Given the description of an element on the screen output the (x, y) to click on. 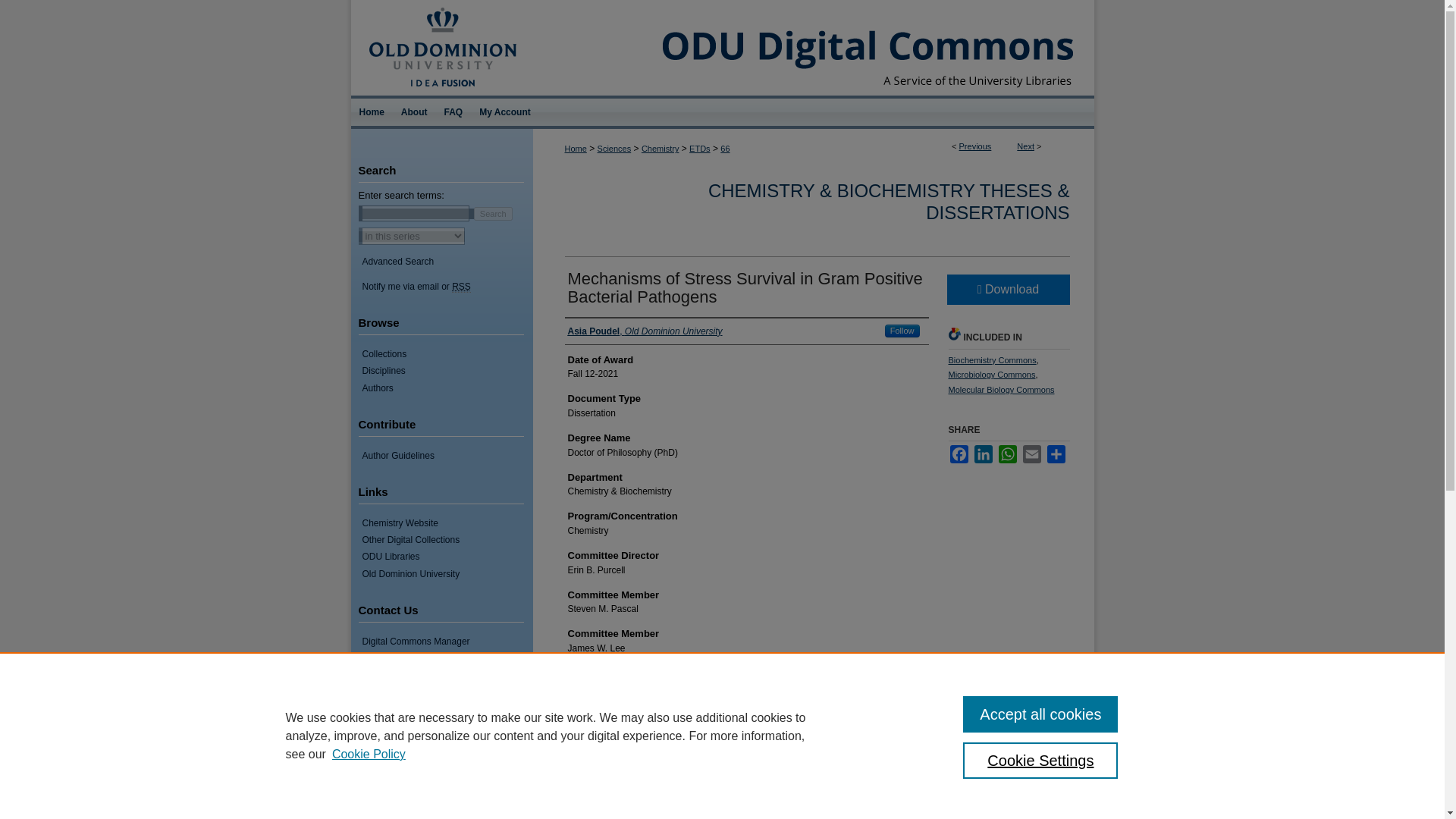
Email (1031, 454)
ODU Digital Commons (812, 47)
Search (493, 213)
Next (1024, 145)
Molecular Biology Commons (1000, 388)
ODU Digital Commons (812, 47)
Share (1055, 454)
Search (493, 213)
ETDs (699, 148)
Advanced Search (397, 261)
My Account (504, 111)
Notify me via email or RSS (447, 286)
Follow (902, 330)
Biochemistry Commons (991, 359)
Home (370, 111)
